Given the description of an element on the screen output the (x, y) to click on. 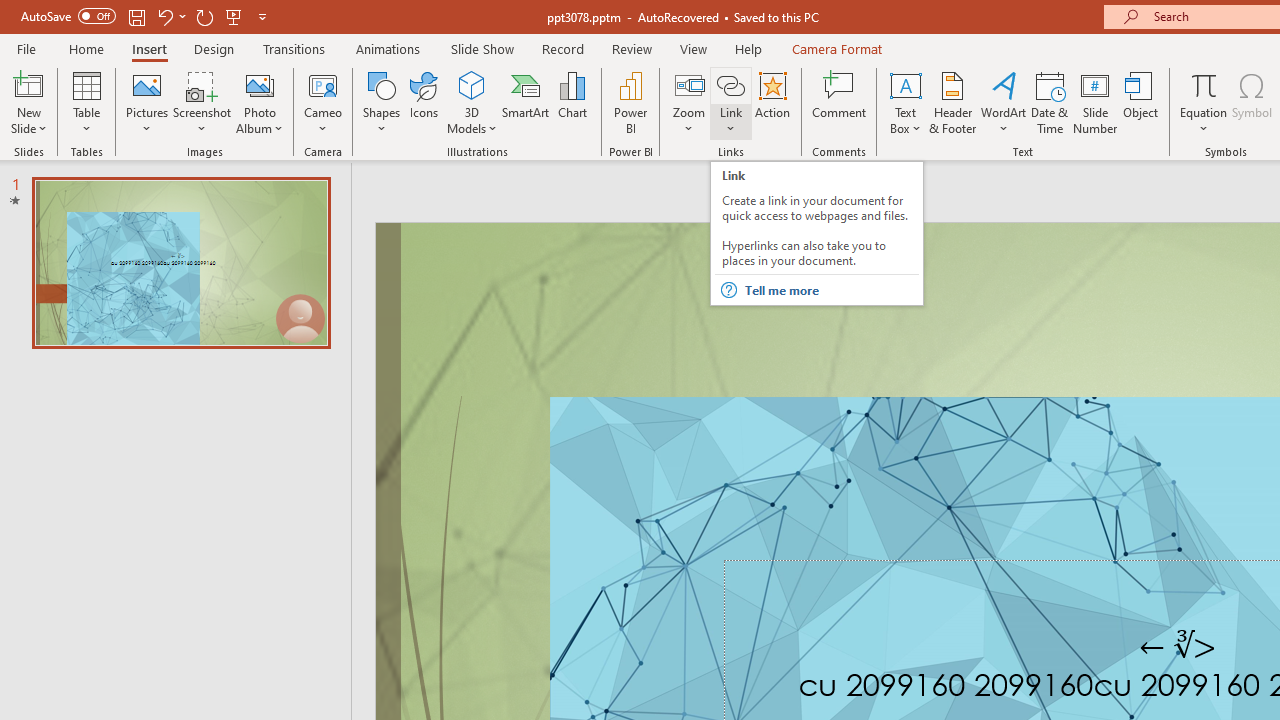
3D Models (472, 84)
Symbol... (1252, 102)
Slide Show (481, 48)
Table (86, 102)
View (693, 48)
Tell me more (830, 290)
Action (772, 102)
File Tab (26, 48)
Slide Number (1095, 102)
3D Models (472, 102)
Screenshot (202, 102)
Cameo (323, 102)
WordArt (1004, 102)
Design (214, 48)
